Given the description of an element on the screen output the (x, y) to click on. 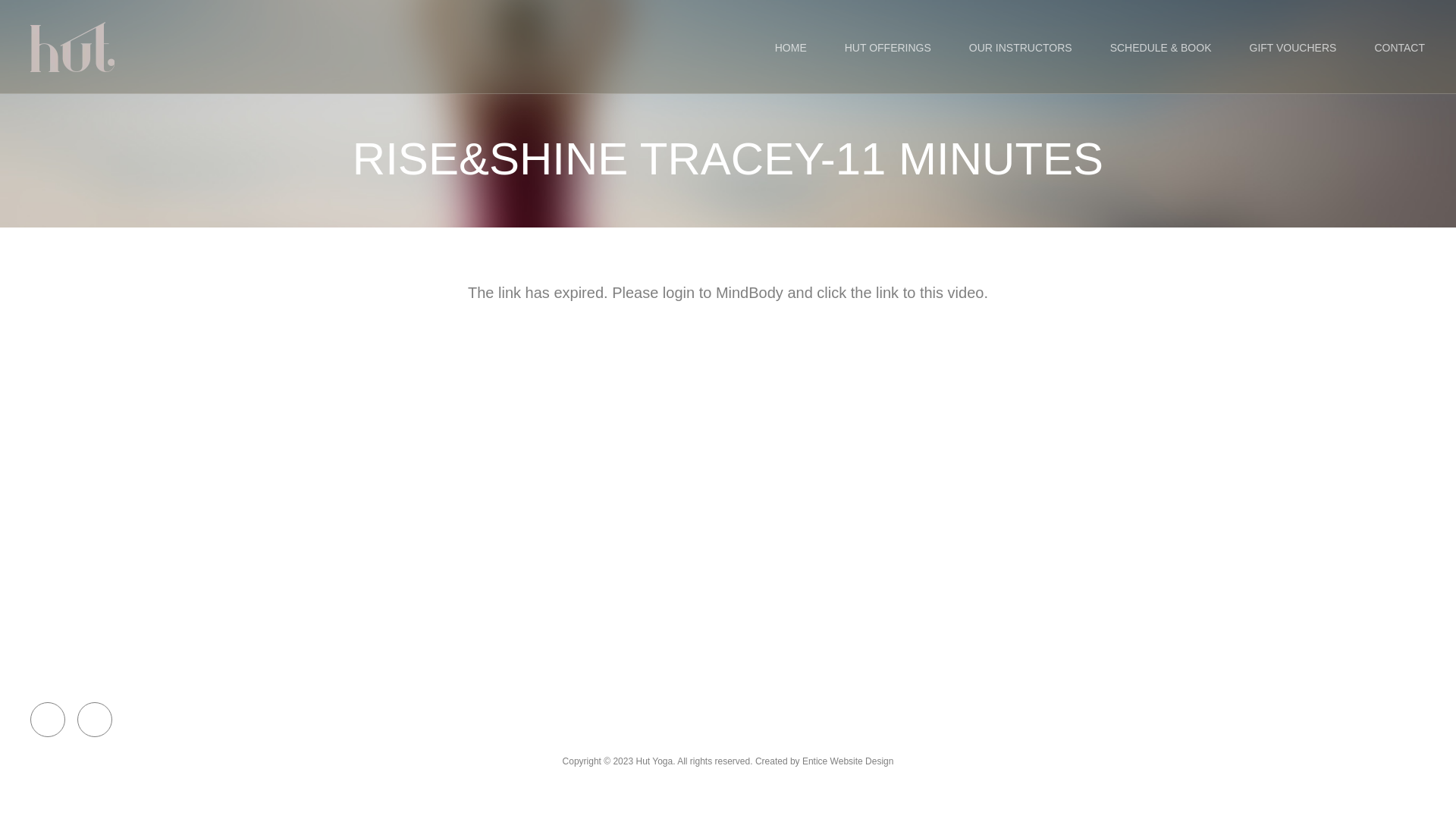
SCHEDULE & BOOK Element type: text (1160, 47)
CONTACT Element type: text (1399, 47)
OUR INSTRUCTORS Element type: text (1020, 47)
GIFT VOUCHERS Element type: text (1292, 47)
HOME Element type: text (790, 47)
HUT OFFERINGS Element type: text (887, 47)
